Given the description of an element on the screen output the (x, y) to click on. 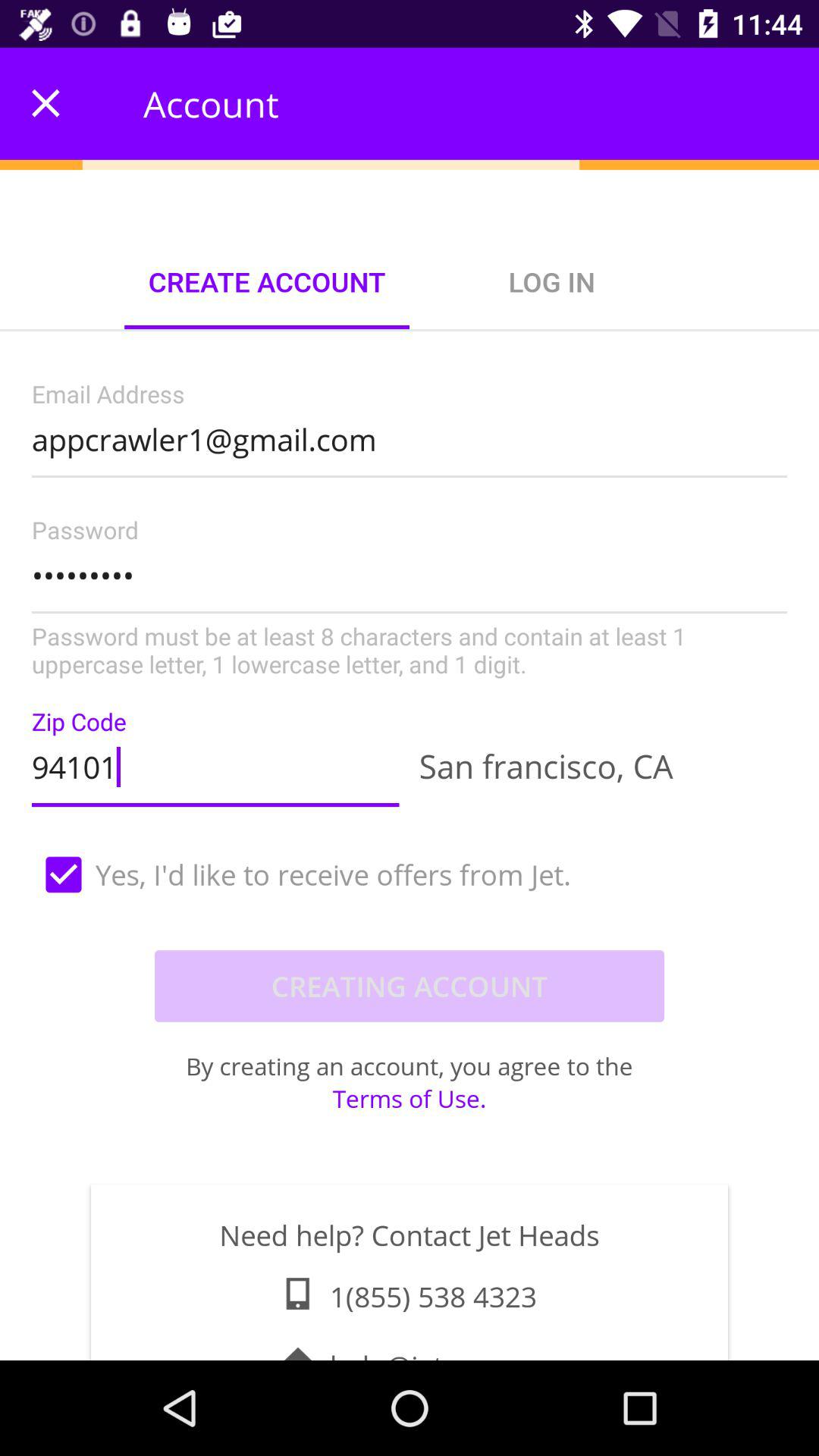
choose item to the left of san francisco, ca (215, 762)
